Given the description of an element on the screen output the (x, y) to click on. 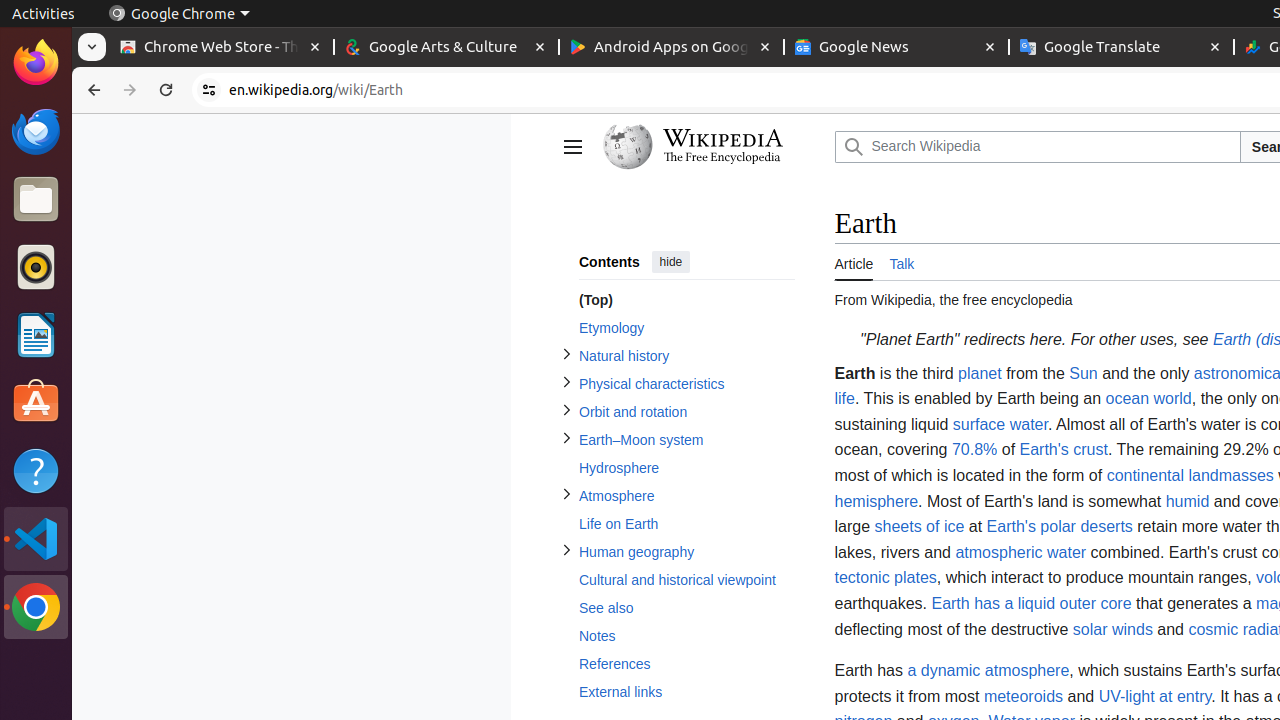
Earth's crust Element type: link (1063, 449)
References Element type: link (686, 664)
Toggle Physical characteristics subsection Element type: push-button (566, 382)
Life on Earth Element type: link (686, 524)
Natural history Element type: link (686, 356)
